Given the description of an element on the screen output the (x, y) to click on. 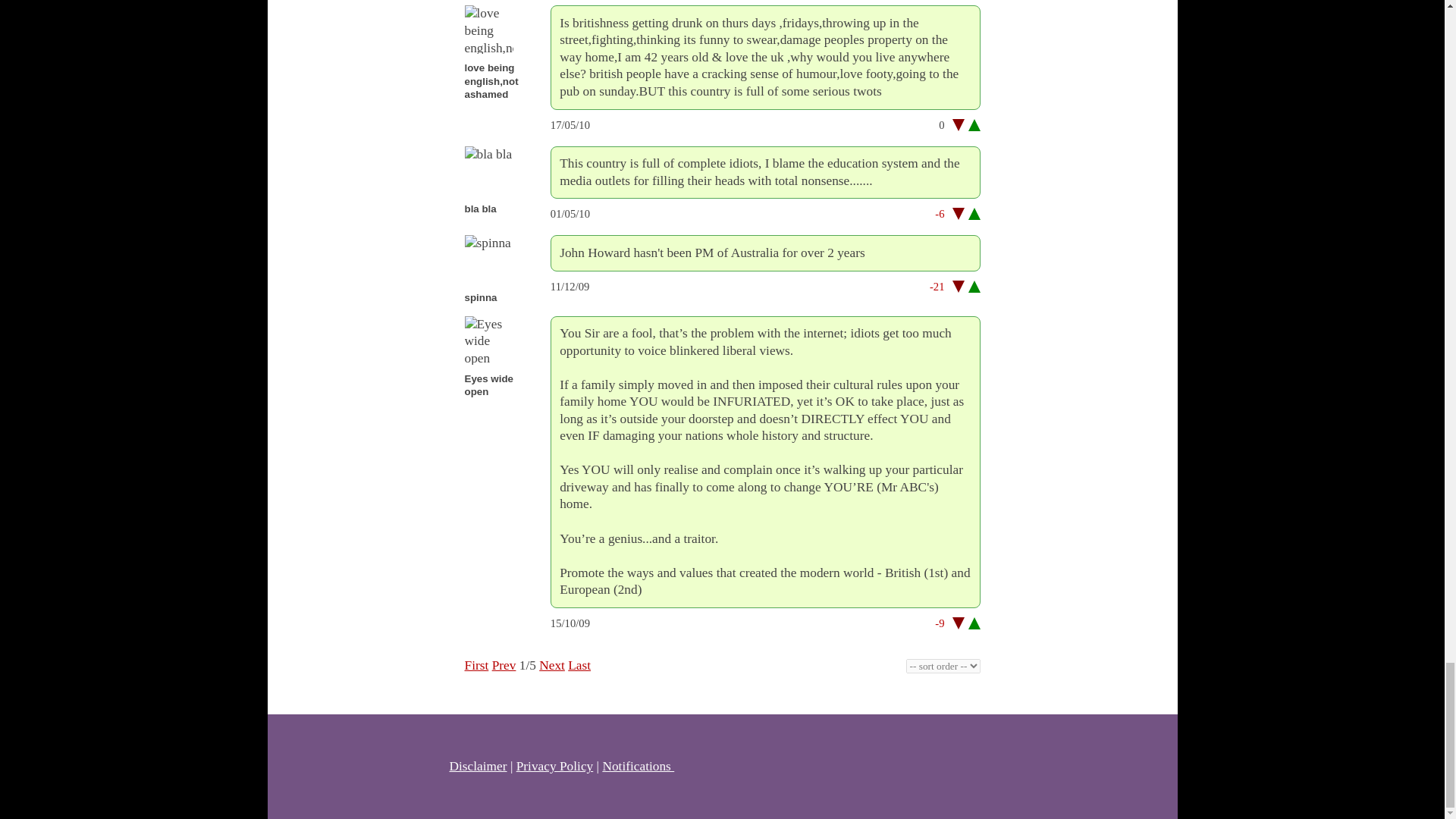
Prev (504, 665)
Last (579, 665)
Next (551, 665)
First (476, 665)
